Given the description of an element on the screen output the (x, y) to click on. 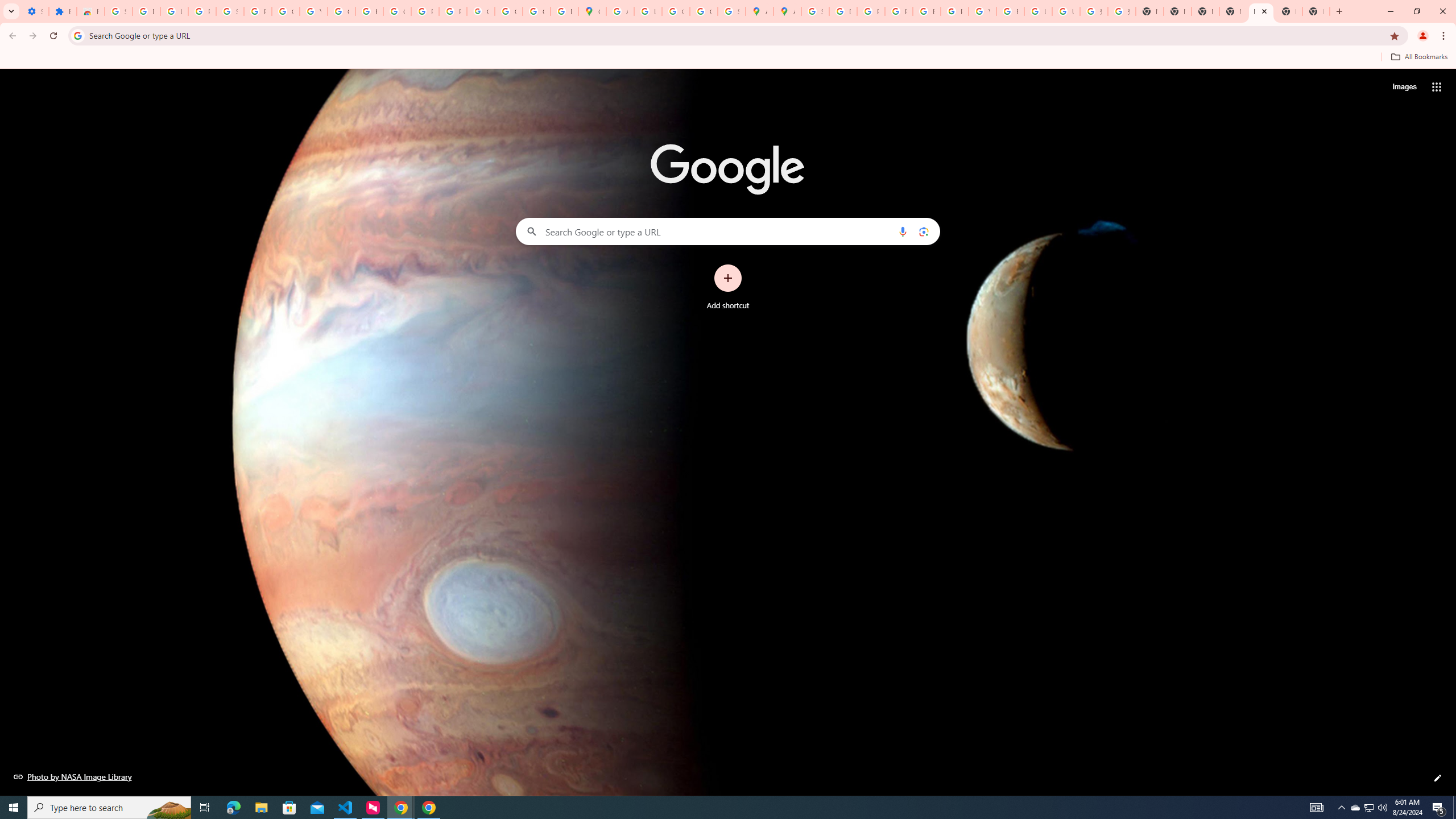
YouTube (982, 11)
YouTube (313, 11)
Privacy Help Center - Policies Help (898, 11)
Sign in - Google Accounts (229, 11)
